Given the description of an element on the screen output the (x, y) to click on. 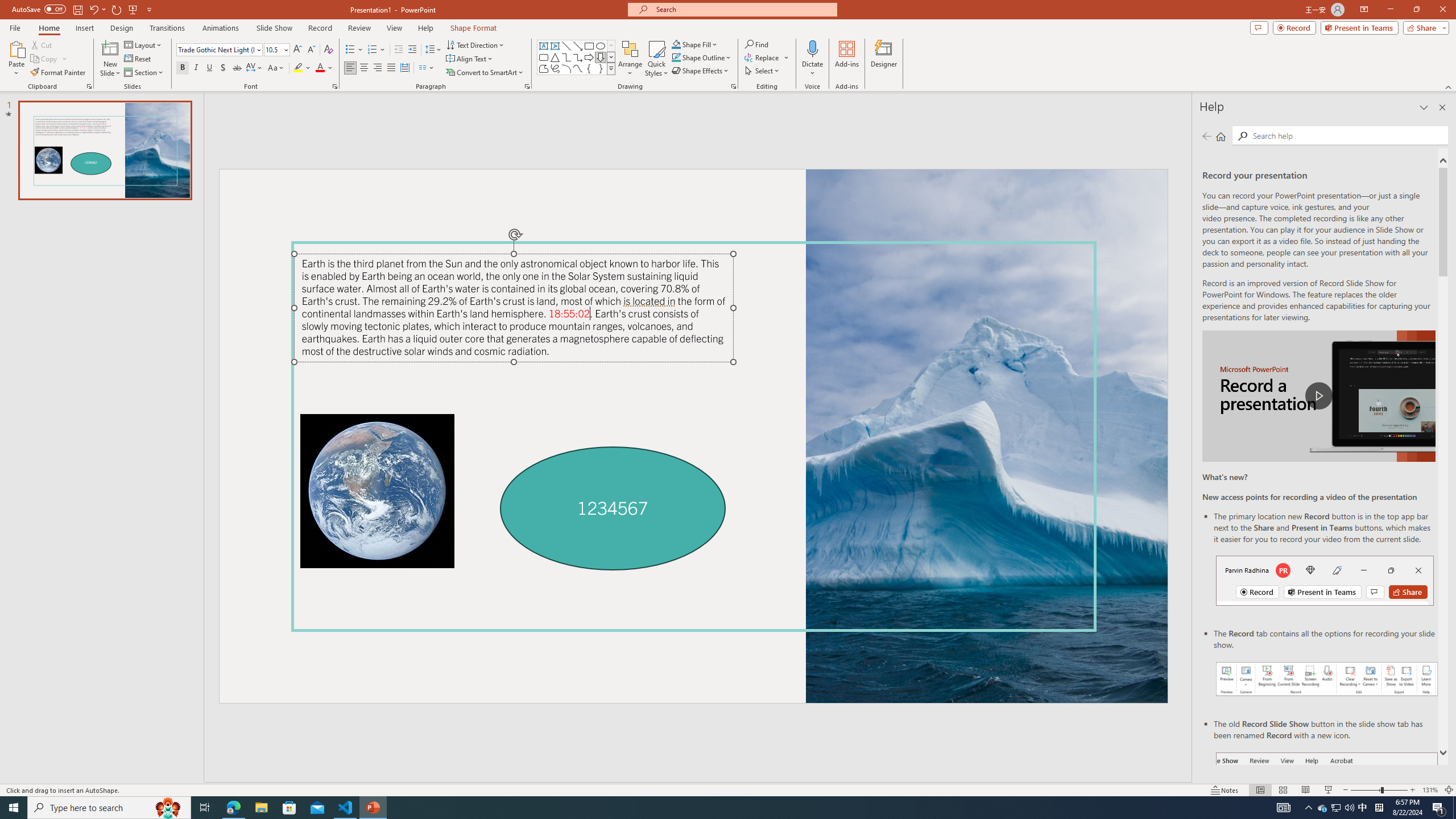
Paste (16, 58)
Text Highlight Color (302, 67)
Increase Font Size (297, 49)
Close pane (1441, 107)
Select (762, 69)
Cut (42, 44)
Font (215, 49)
Shape Outline Teal, Accent 1 (675, 56)
Search (1241, 136)
Decrease Indent (398, 49)
Shape Fill (694, 44)
New Slide (110, 58)
